Given the description of an element on the screen output the (x, y) to click on. 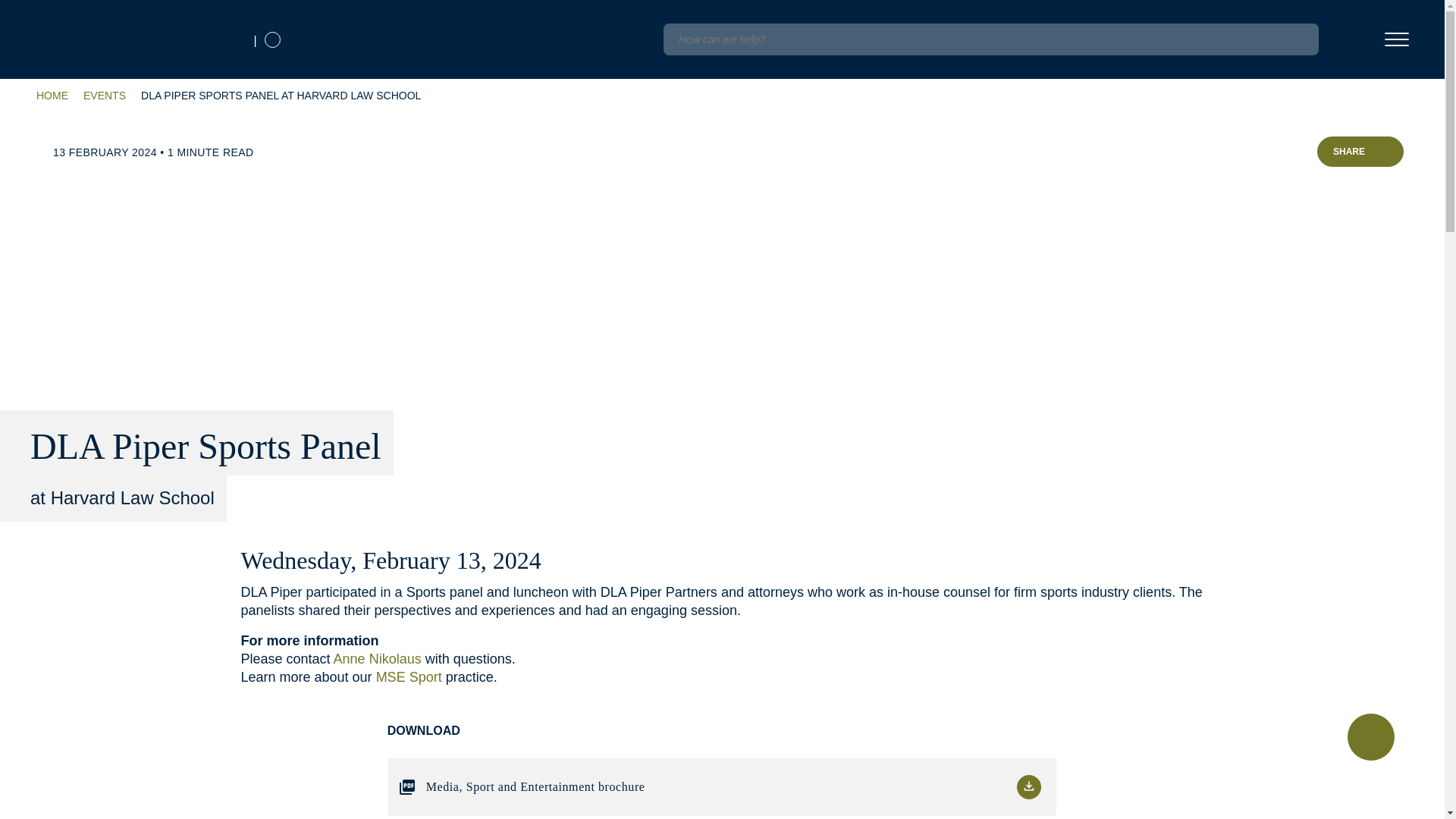
MSE Sport (408, 676)
Insert a query. Press enter to send (990, 39)
HOME (52, 95)
Anne Nikolaus (377, 658)
EVENTS (103, 95)
Media, Sport and Entertainment brochure (722, 786)
